Given the description of an element on the screen output the (x, y) to click on. 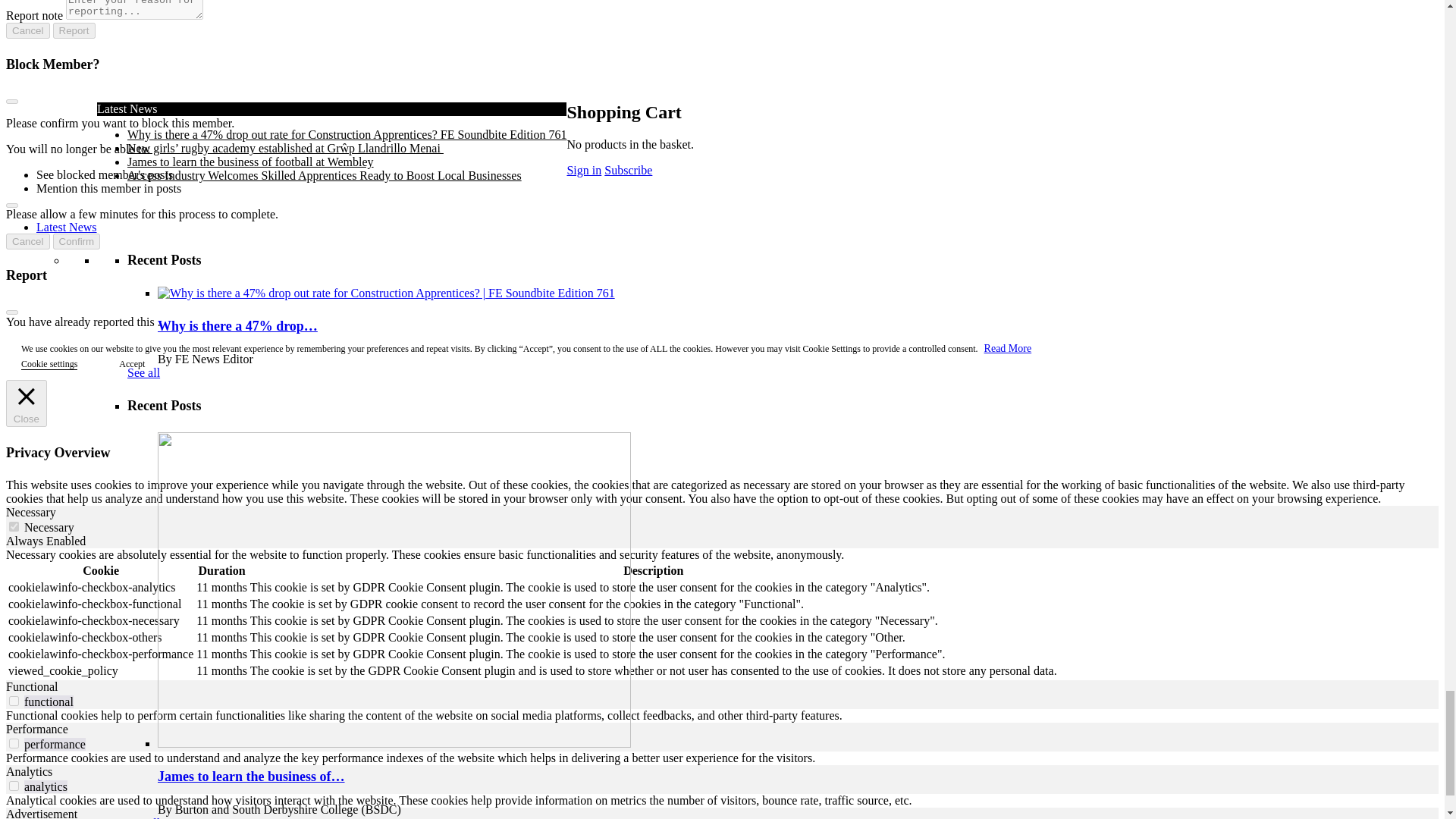
on (13, 786)
on (13, 743)
on (13, 700)
on (13, 526)
Cancel (27, 30)
Cancel (27, 241)
